Given the description of an element on the screen output the (x, y) to click on. 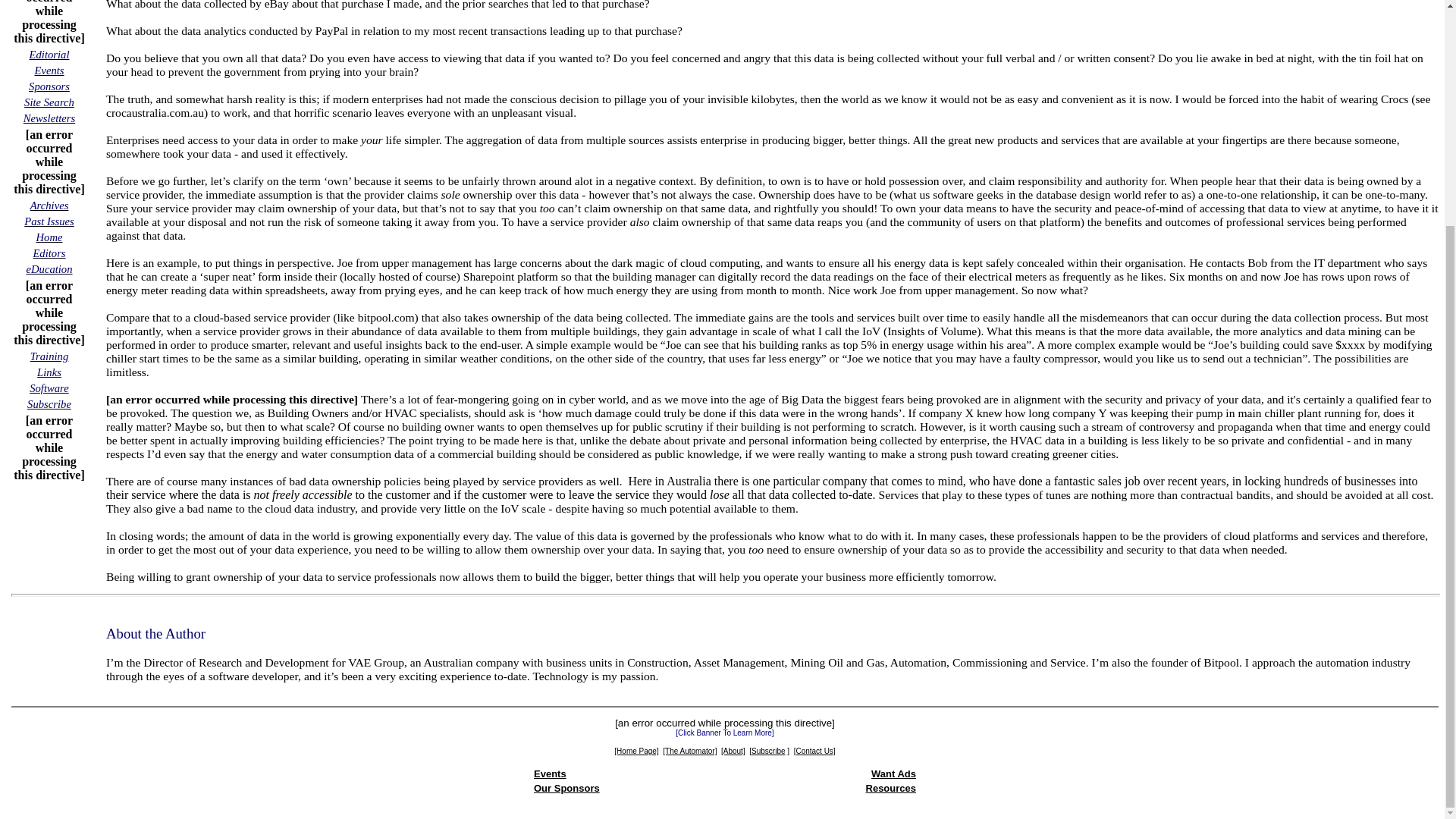
Our Sponsors (566, 787)
Archives (49, 205)
Newsletters (49, 117)
Want Ads (892, 773)
Resources (890, 787)
Links (49, 371)
Subscribe (49, 403)
Editorial (49, 53)
Training (49, 355)
eDucation (48, 268)
Editors (48, 252)
Site Search (49, 101)
Events (550, 773)
Software (48, 387)
Events (48, 69)
